Given the description of an element on the screen output the (x, y) to click on. 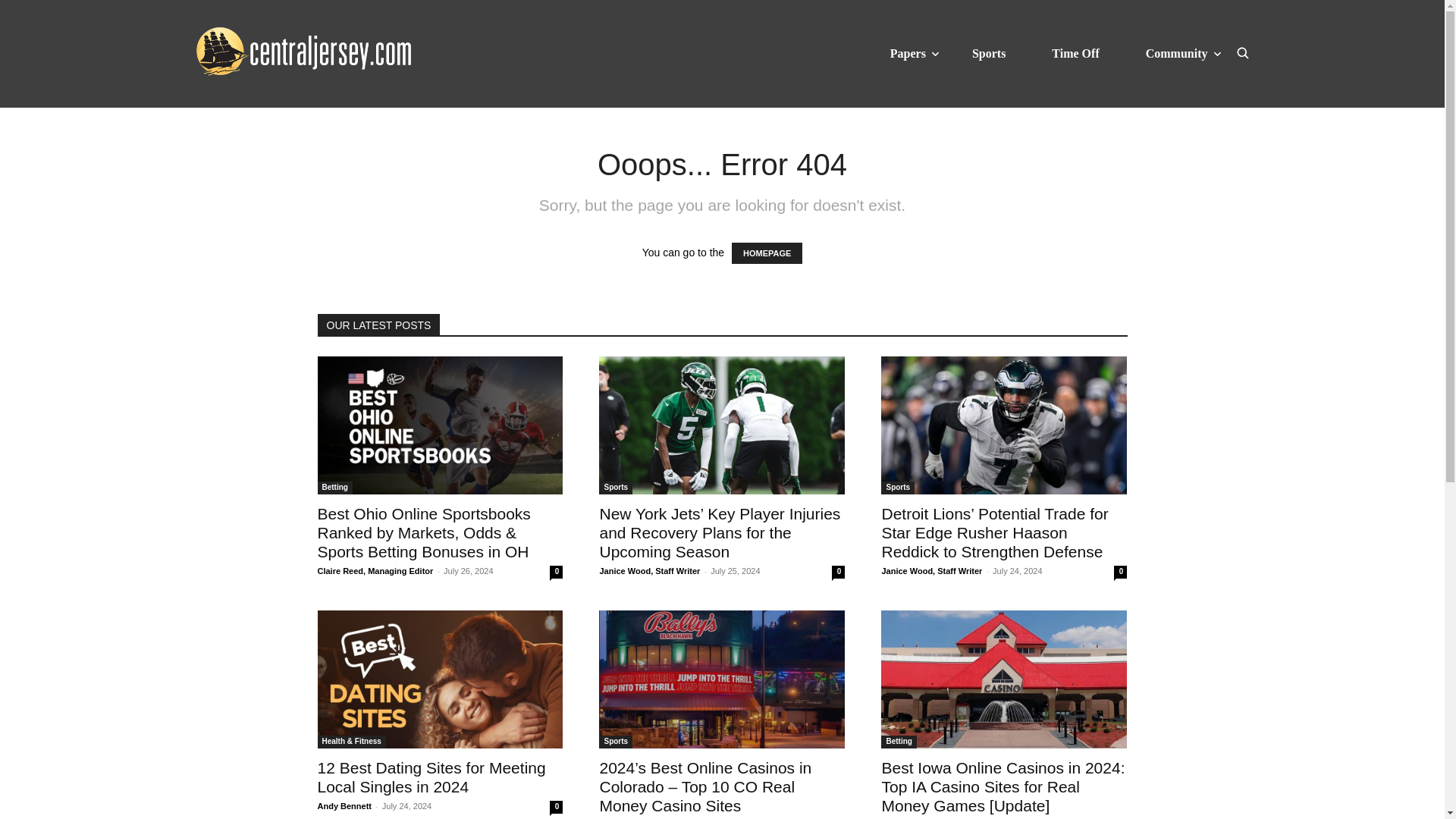
HOMEPAGE (767, 252)
12 Best Dating Sites for Meeting Local Singles in 2024 (439, 679)
Time Off (1075, 52)
Betting (334, 487)
Sports (989, 52)
Sports (614, 487)
Claire Reed, Managing Editor (374, 570)
Papers (907, 52)
0 (556, 571)
Community (1176, 52)
12 Best Dating Sites for Meeting Local Singles in 2024 (430, 777)
